Given the description of an element on the screen output the (x, y) to click on. 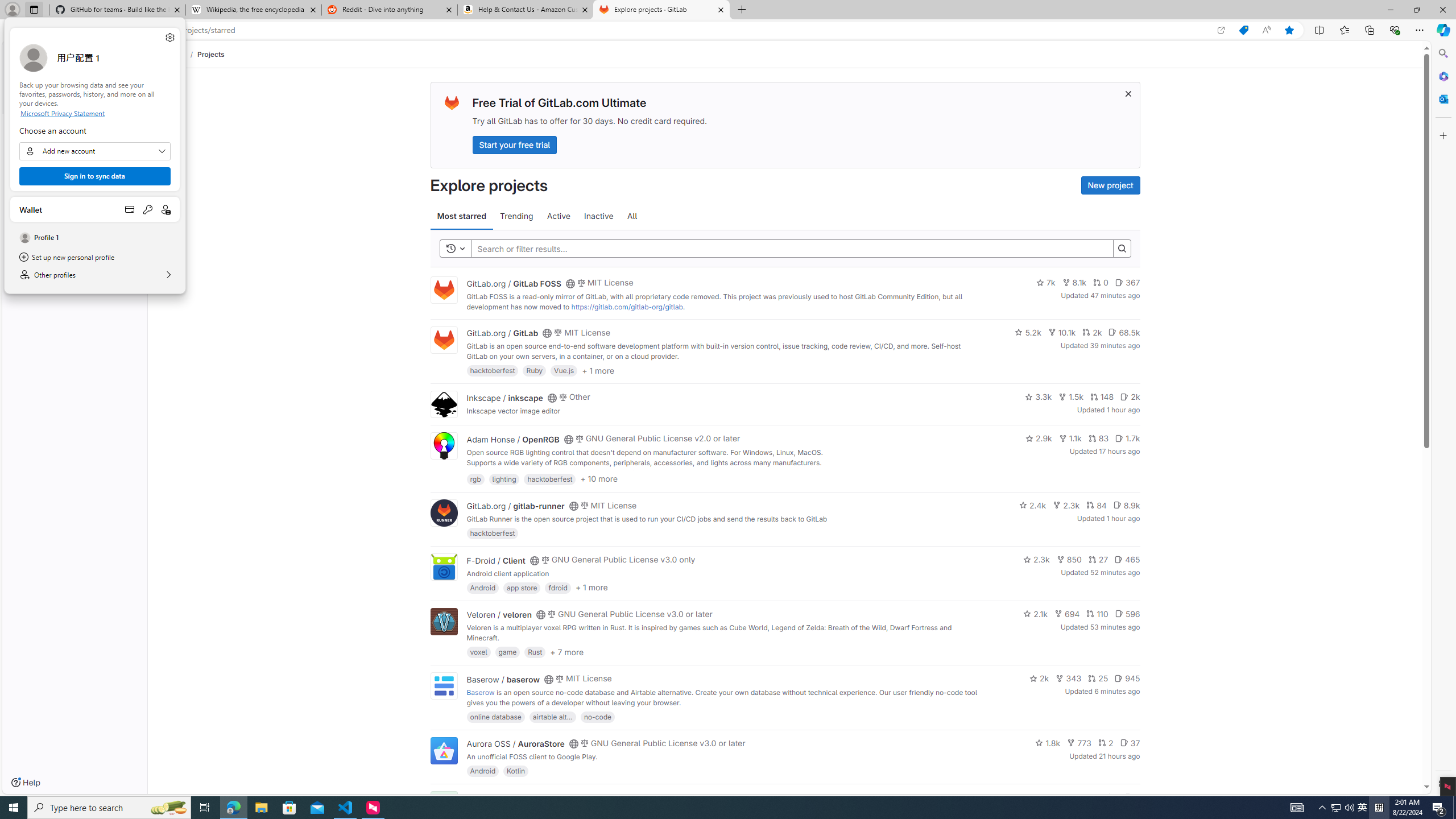
773 (1079, 742)
850 (1068, 559)
Sign in to sync data (94, 176)
Edouard Klein / falsisign (512, 797)
voxel (478, 651)
Running applications (707, 807)
2.1k (1035, 613)
GitLab.org / GitLab FOSS (513, 283)
Kotlin (515, 770)
+ 10 more (599, 478)
Trending (516, 216)
596 (1127, 613)
